Given the description of an element on the screen output the (x, y) to click on. 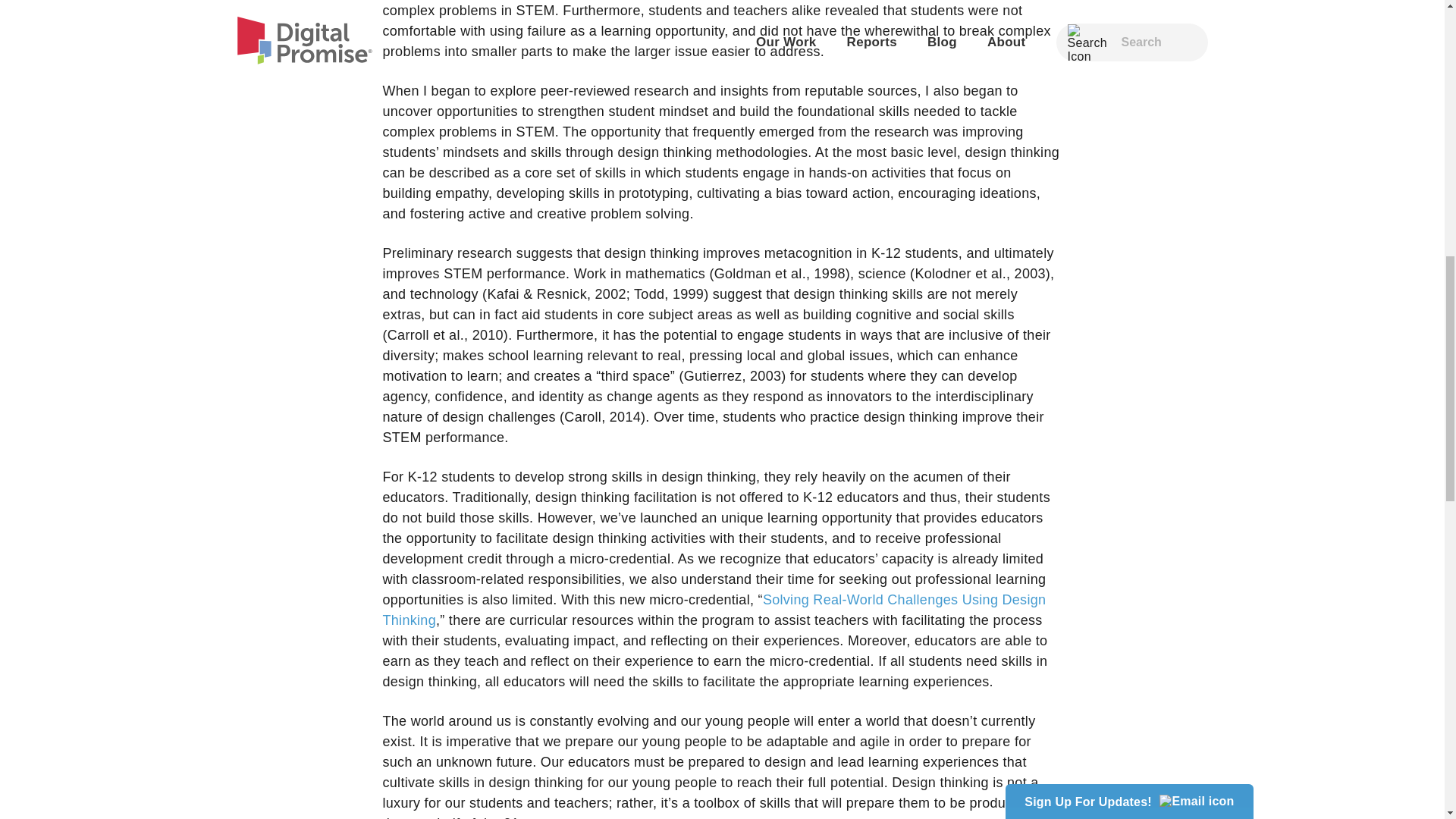
Solving Real-World Challenges Using Design Thinking (713, 610)
